Given the description of an element on the screen output the (x, y) to click on. 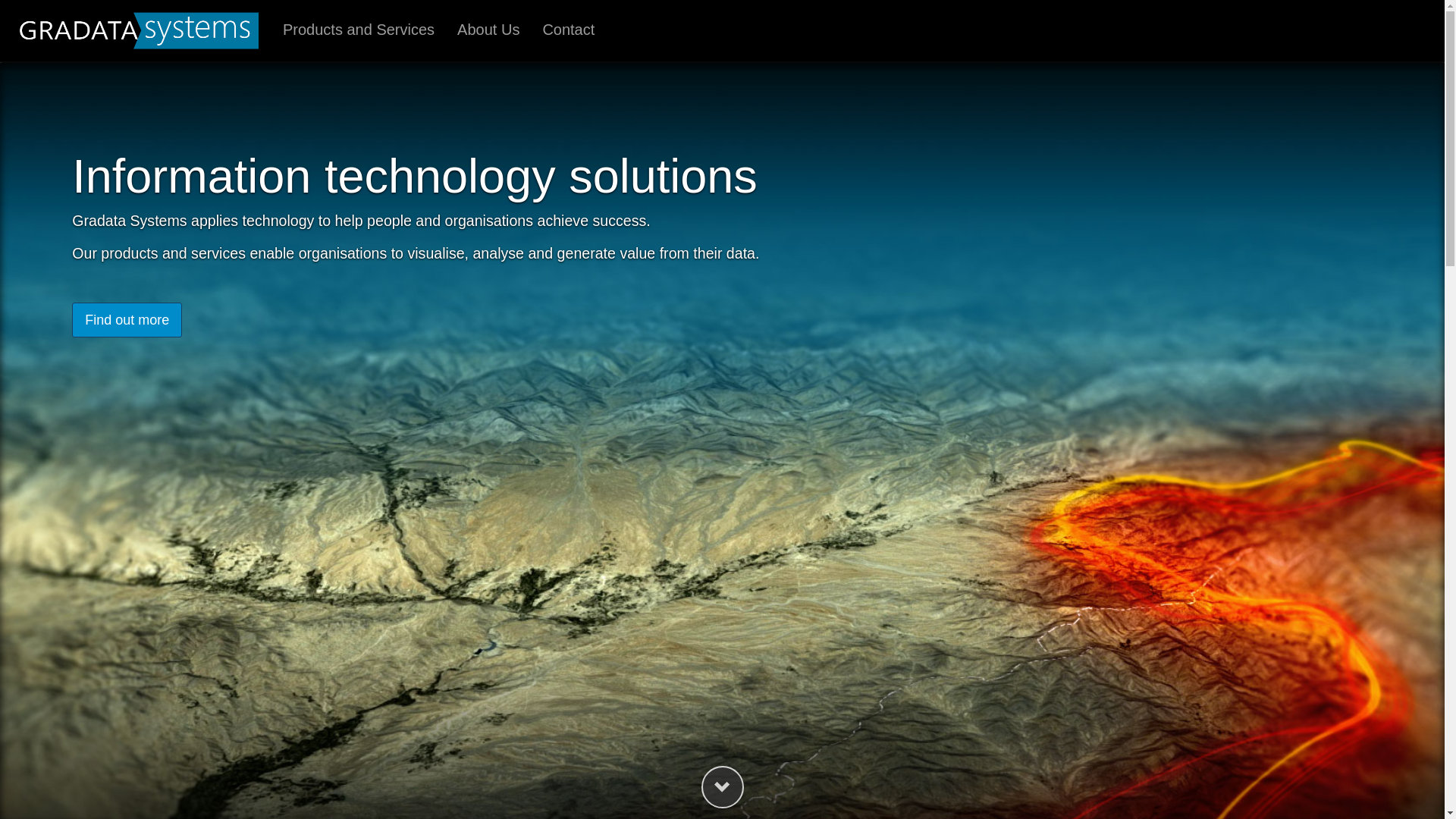
Products and Services Element type: text (358, 30)
Contact Element type: text (567, 30)
About Us Element type: text (487, 30)
Find out more Element type: text (127, 319)
